Given the description of an element on the screen output the (x, y) to click on. 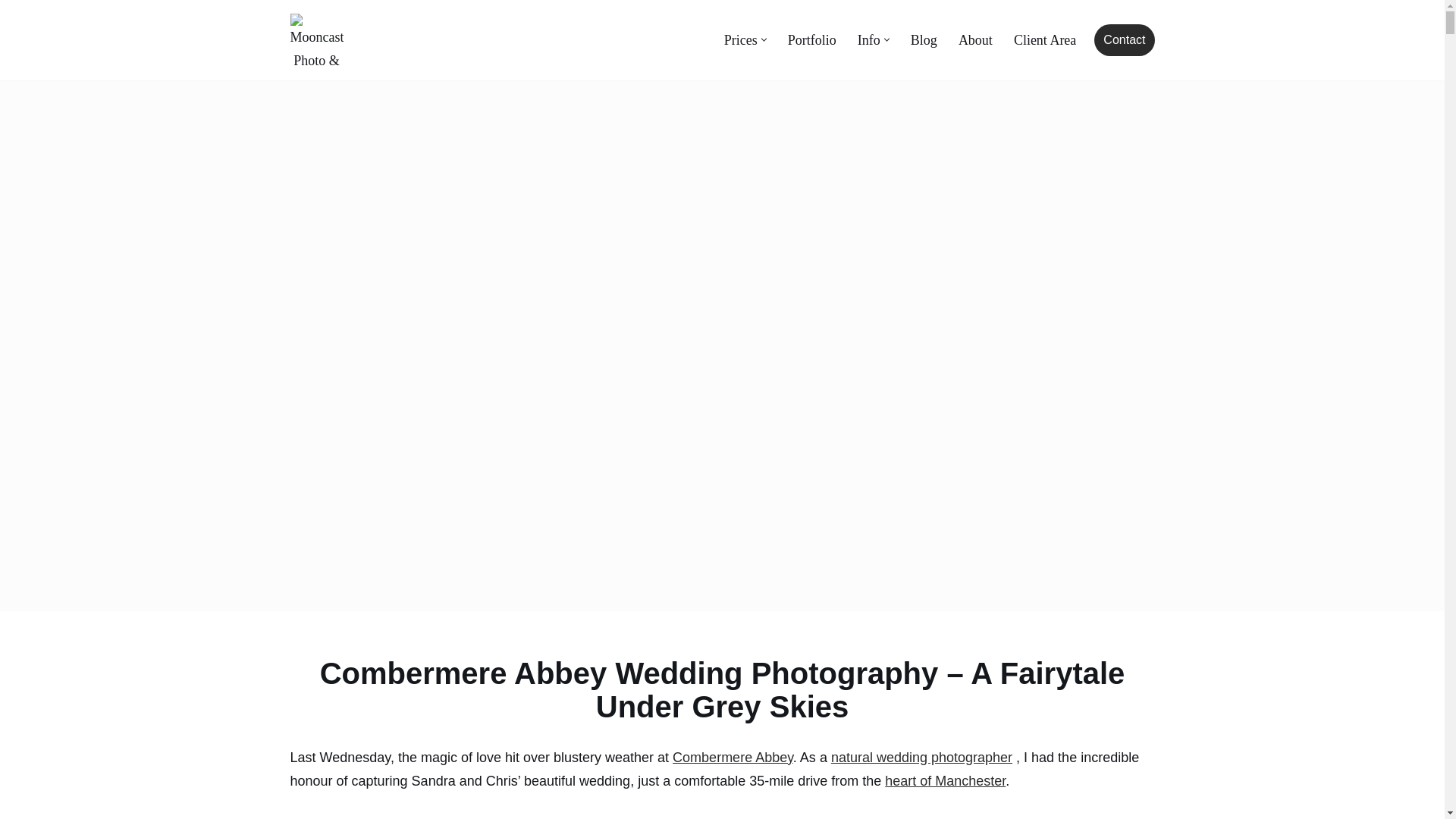
Blog (924, 39)
Client Area (1044, 39)
Portfolio (811, 39)
natural wedding photographer (921, 757)
Info (868, 39)
Prices (740, 39)
Combermere Abbey (732, 757)
heart of Manchester (945, 780)
Skip to content (11, 31)
Contact (1124, 40)
About (975, 39)
